Given the description of an element on the screen output the (x, y) to click on. 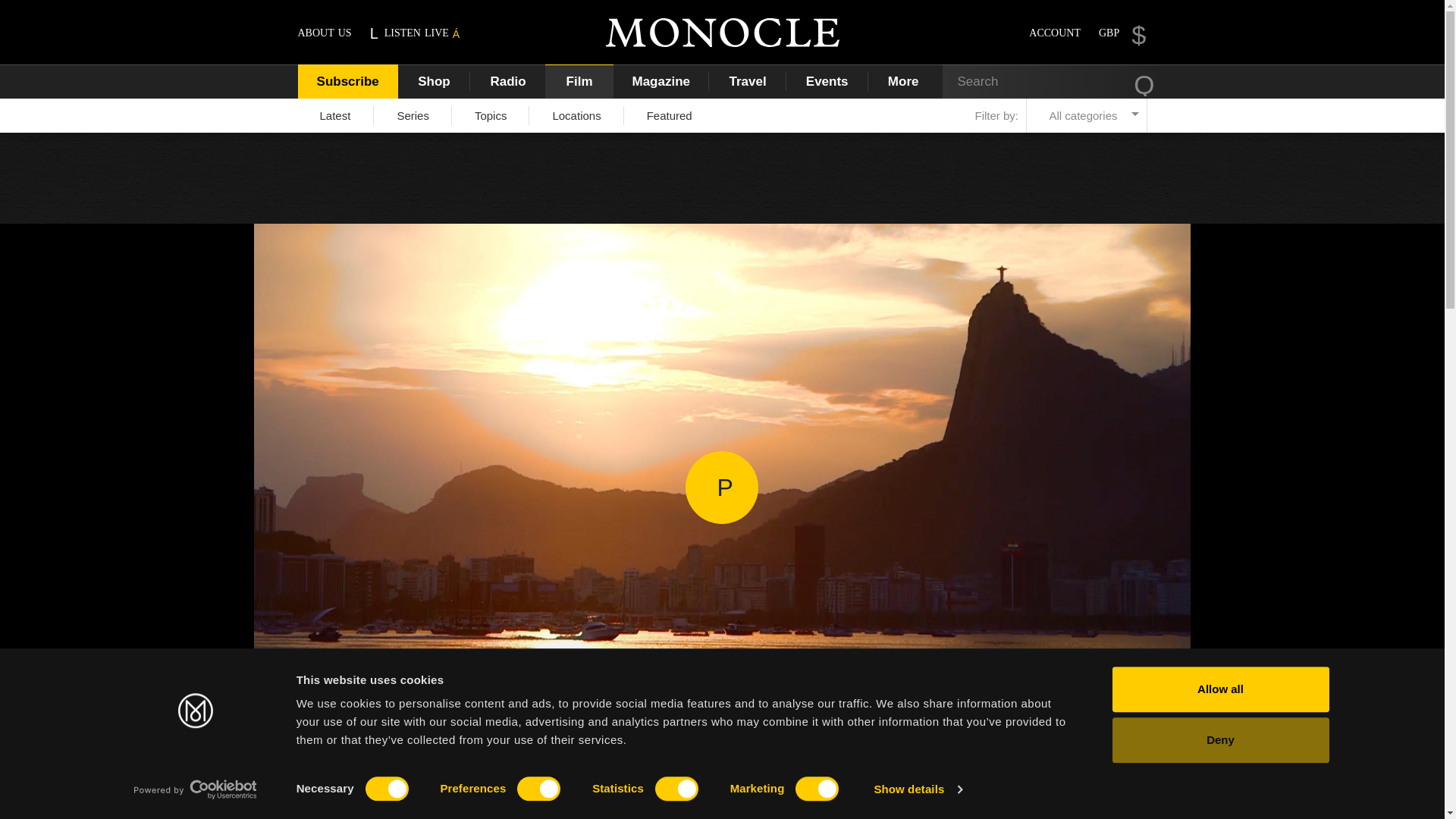
Show details (916, 789)
Q (1144, 82)
Q (1144, 82)
